Given the description of an element on the screen output the (x, y) to click on. 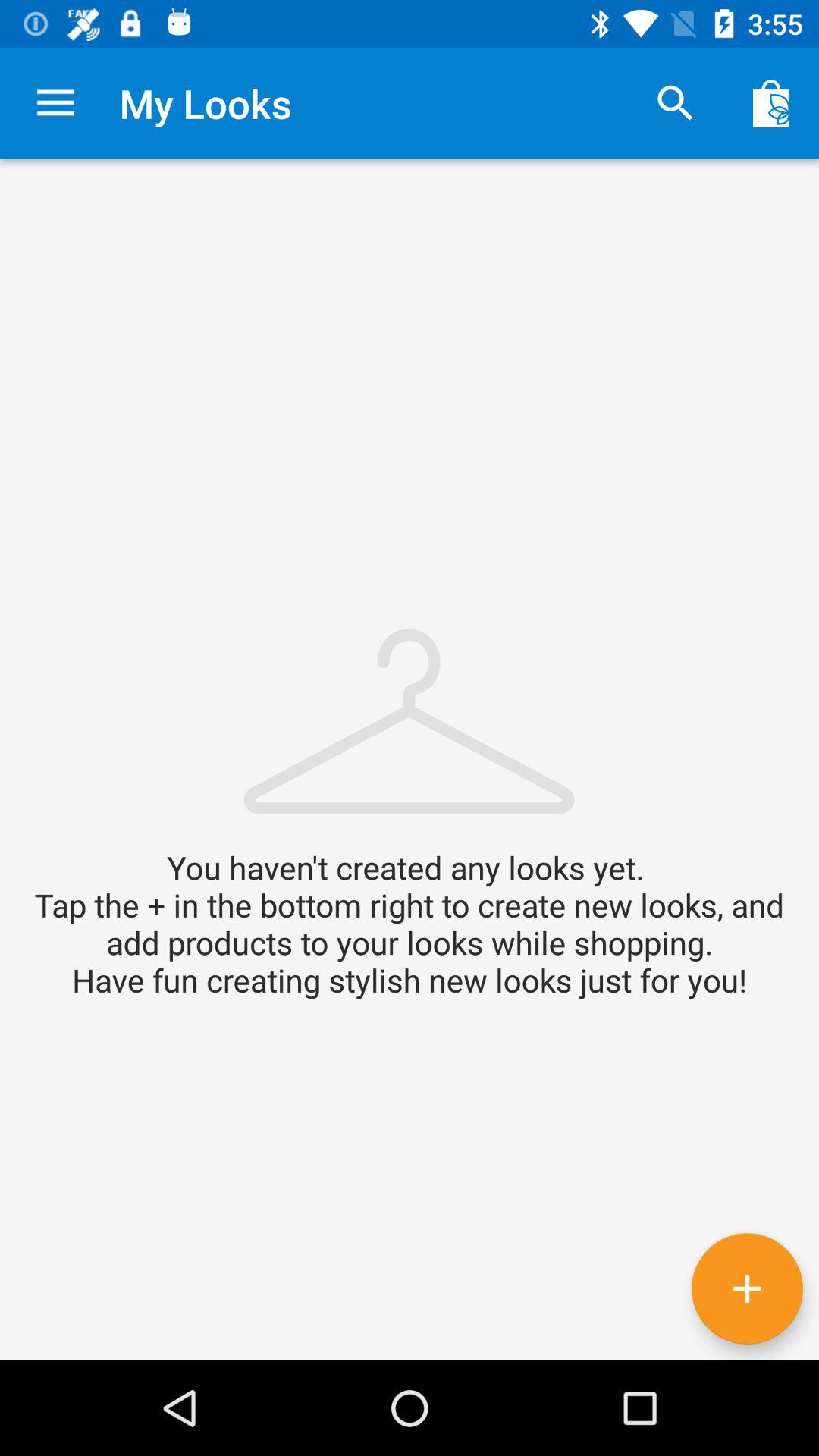
launch the icon below the you haven t icon (747, 1288)
